Given the description of an element on the screen output the (x, y) to click on. 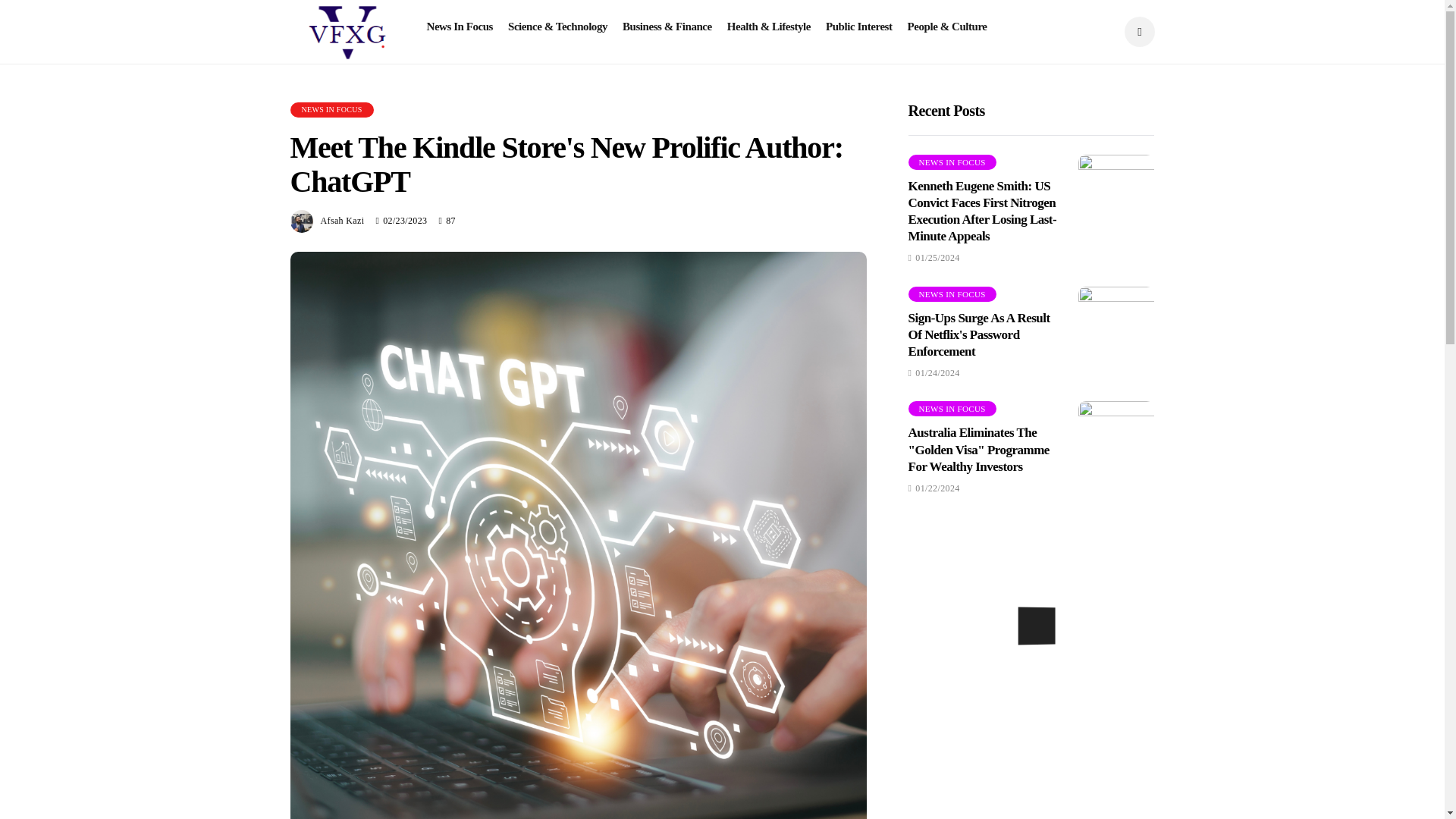
Sitting right here waiting for you come to me (1116, 324)
NEWS IN FOCUS (951, 408)
Sitting right here waiting for you come to me (1116, 192)
Sitting right here waiting for you come to me (1116, 438)
Posts by Afsah Kazi (342, 220)
NEWS IN FOCUS (951, 294)
Public Interest (858, 26)
NEWS IN FOCUS (951, 161)
NEWS IN FOCUS (330, 109)
